Given the description of an element on the screen output the (x, y) to click on. 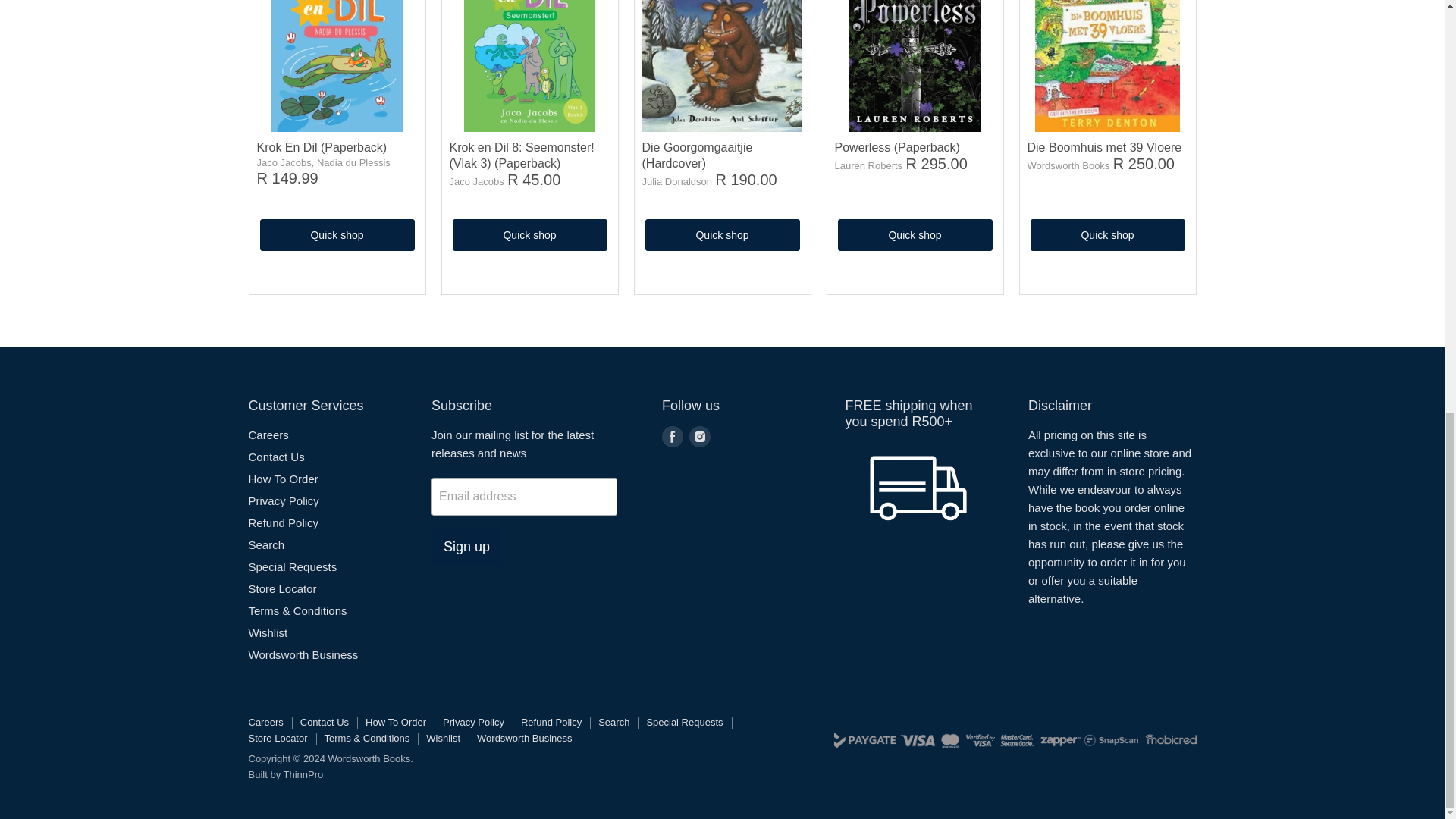
Jaco Jacobs (475, 181)
Wordsworth Books (1067, 165)
Lauren Roberts (868, 165)
Facebook (672, 436)
Julia Donaldson (676, 181)
Jaco Jacobs, Nadia du Plessis (323, 162)
Instagram (699, 436)
